Given the description of an element on the screen output the (x, y) to click on. 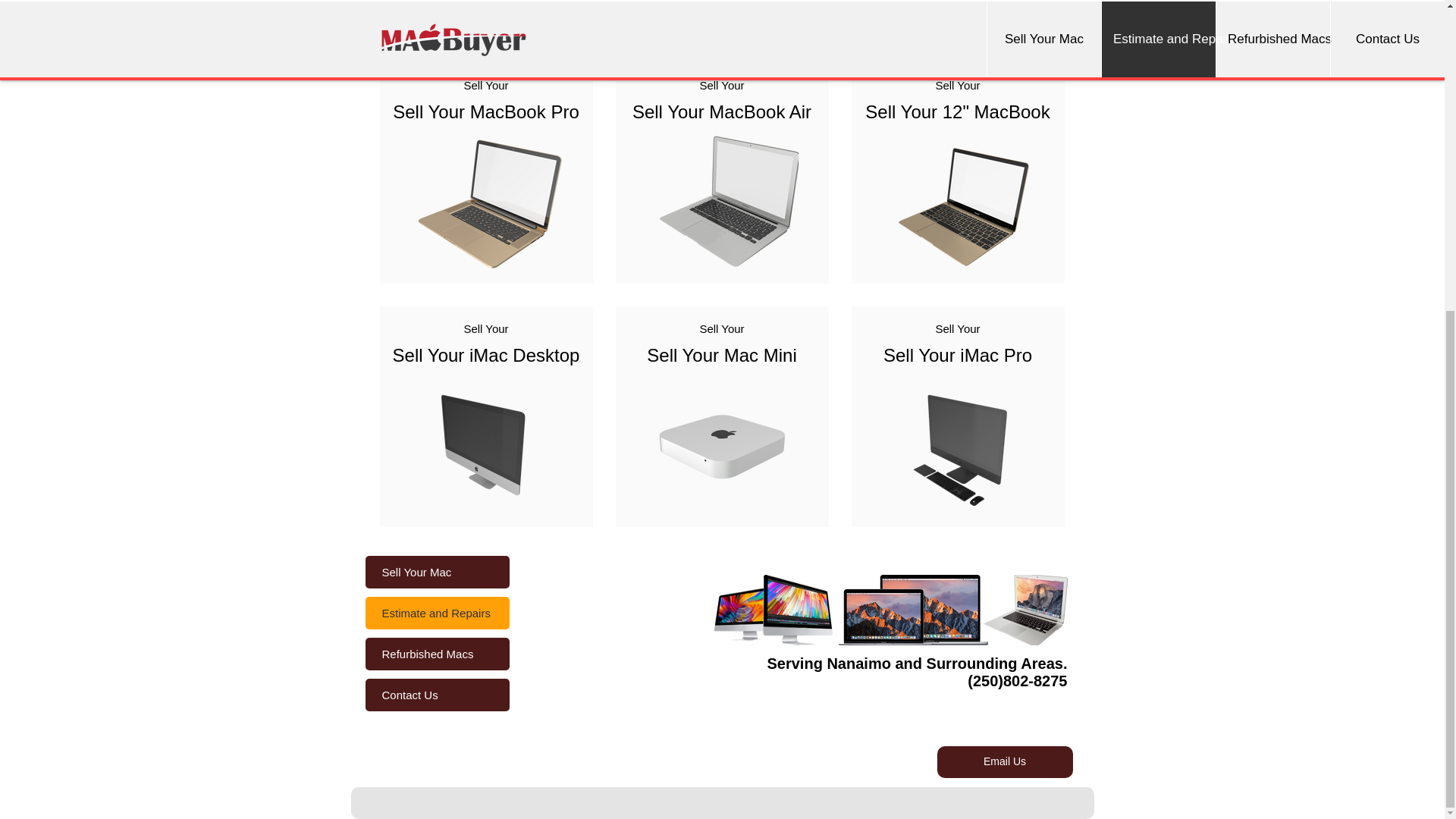
ell Your Mac Mini (727, 354)
Refurbished Macs (437, 654)
Sell Your MacBook Pro (485, 111)
Email Us (1005, 762)
ell Your iMac Desktop (491, 354)
Estimate and Repairs (437, 613)
ell Your iMac Pro (963, 354)
Contact Us (437, 694)
ell Your MacBook Air (727, 111)
ell Your 12" MacBook (963, 111)
